Given the description of an element on the screen output the (x, y) to click on. 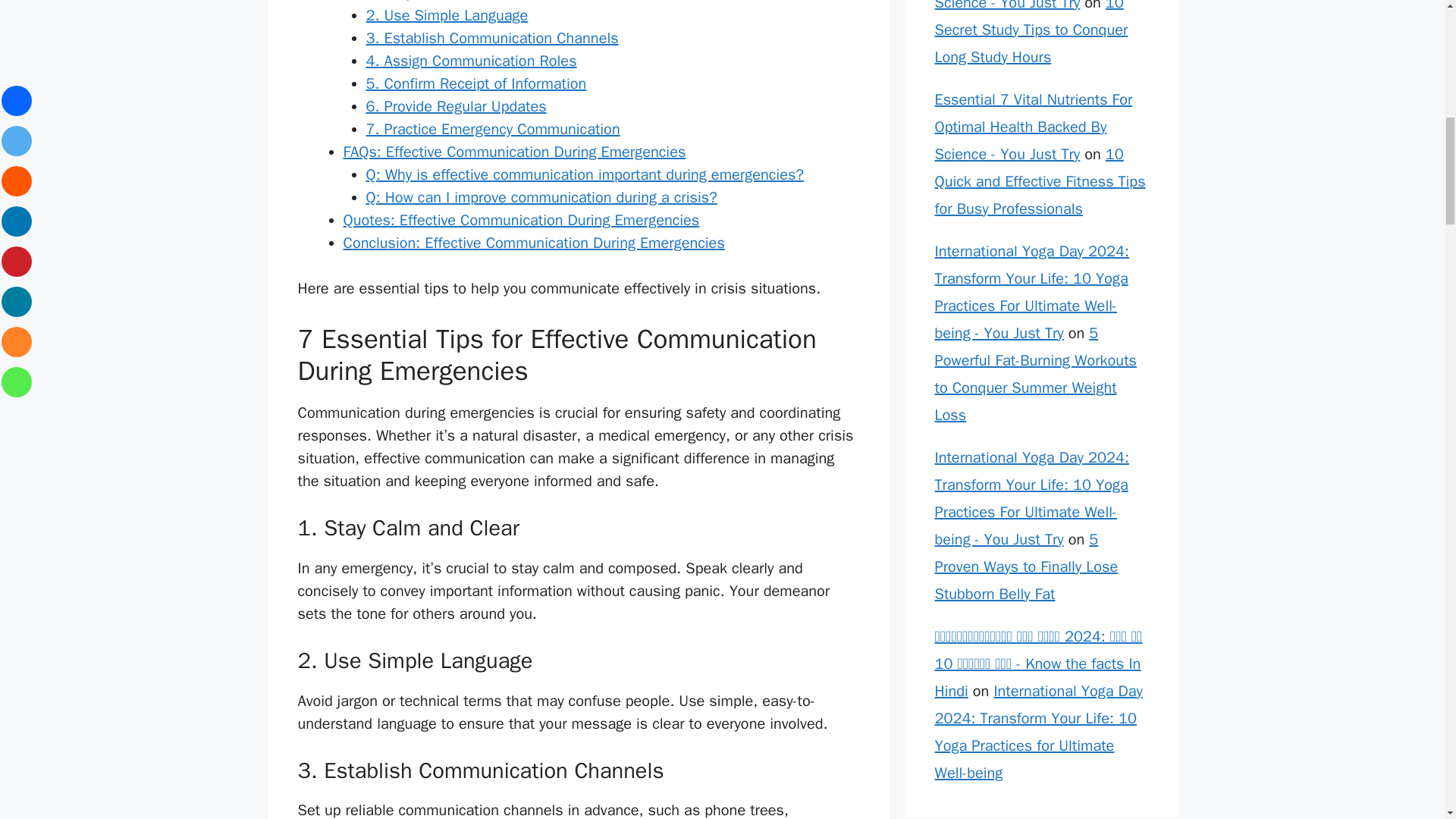
3. Establish Communication Channels (491, 37)
7. Practice Emergency Communication (492, 128)
1. Stay Calm and Clear (441, 1)
5. Confirm Receipt of Information (475, 83)
Q: How can I improve communication during a crisis? (540, 197)
FAQs: Effective Communication During Emergencies (513, 151)
4. Assign Communication Roles (470, 60)
Quotes: Effective Communication During Emergencies (520, 220)
6. Provide Regular Updates (455, 106)
